Given the description of an element on the screen output the (x, y) to click on. 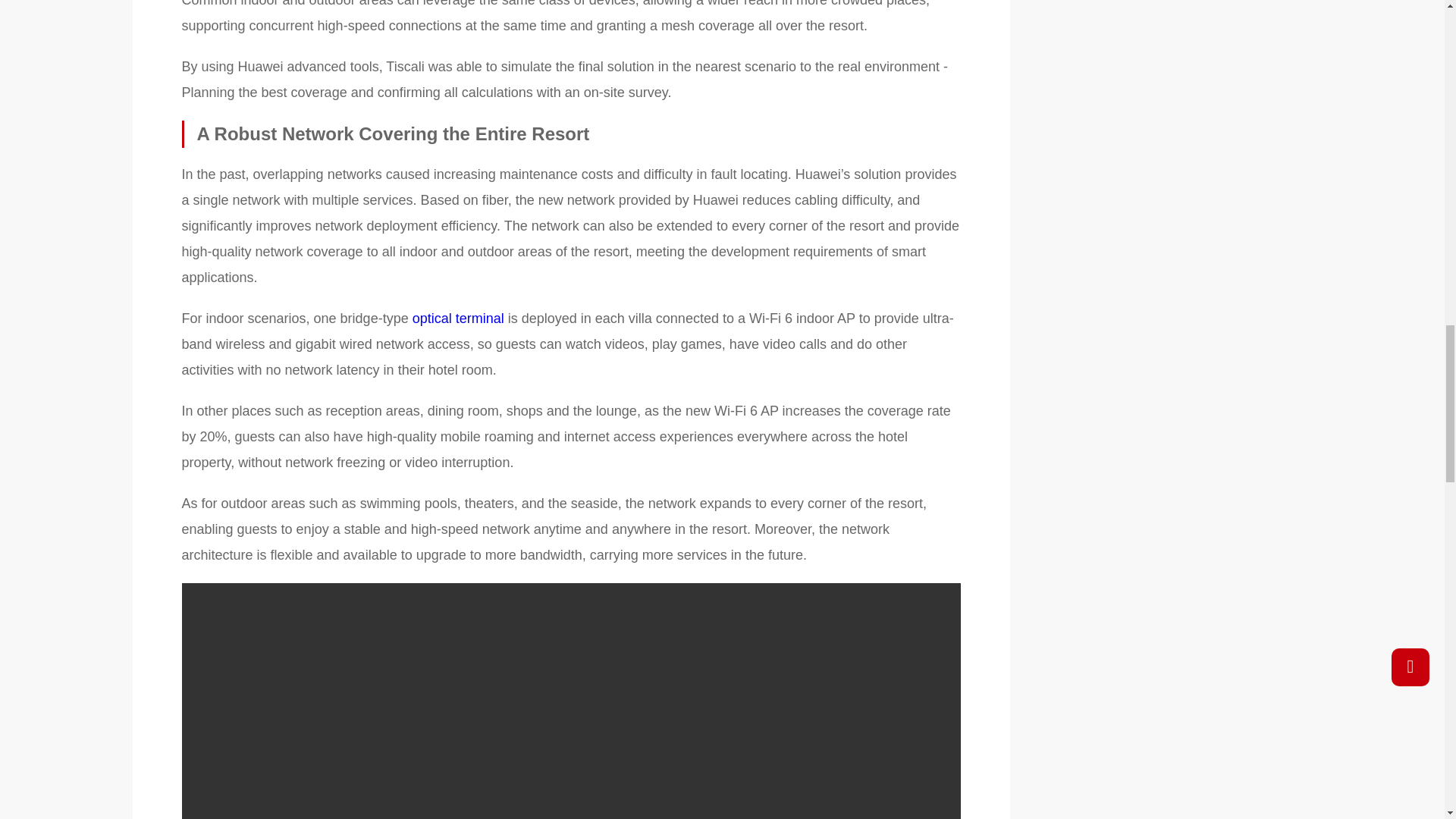
A Robust Network Covering the Entire Resort (571, 134)
